Given the description of an element on the screen output the (x, y) to click on. 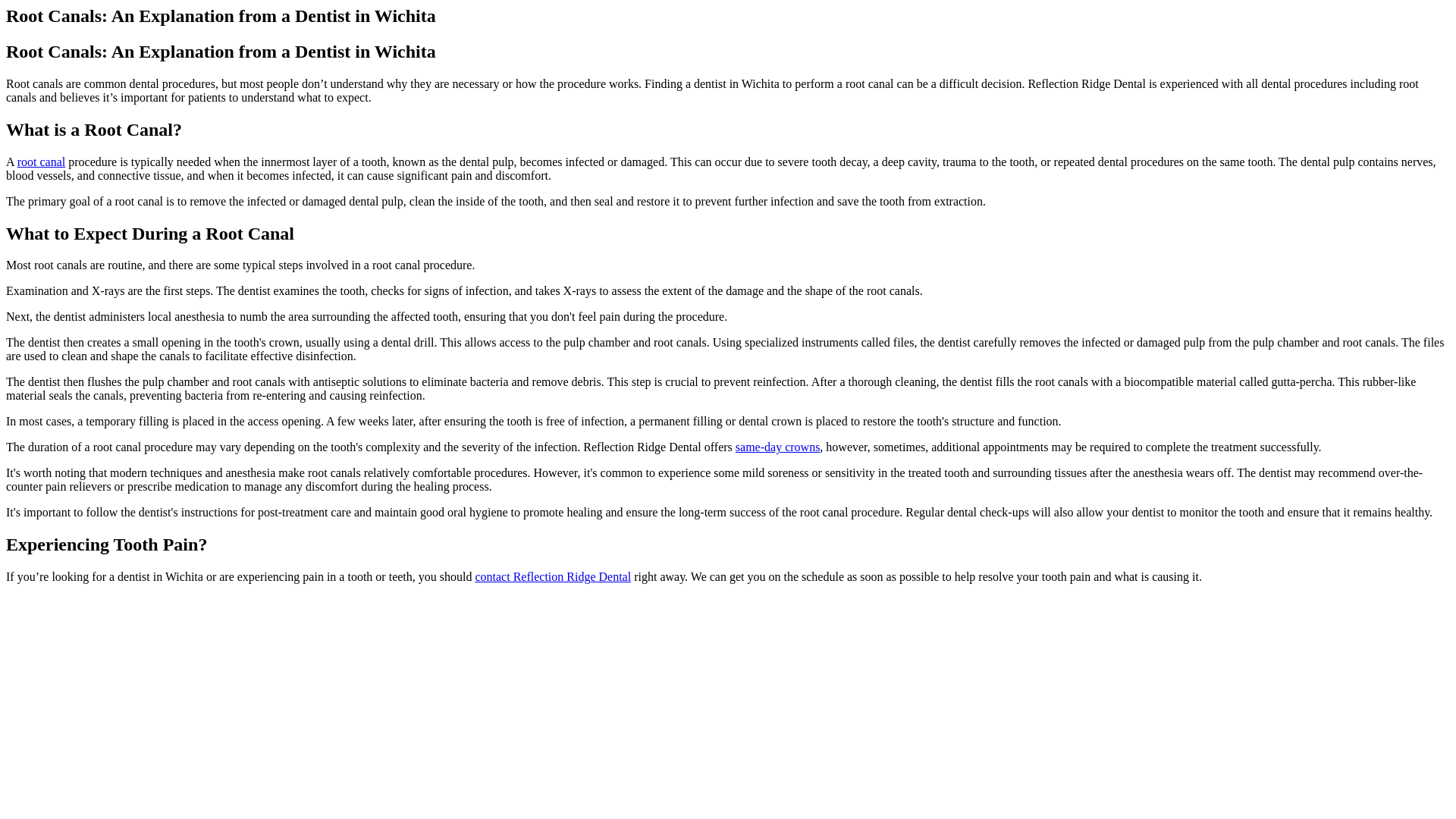
contact Reflection Ridge Dental (552, 576)
root canal (41, 161)
same-day crowns (778, 446)
